Given the description of an element on the screen output the (x, y) to click on. 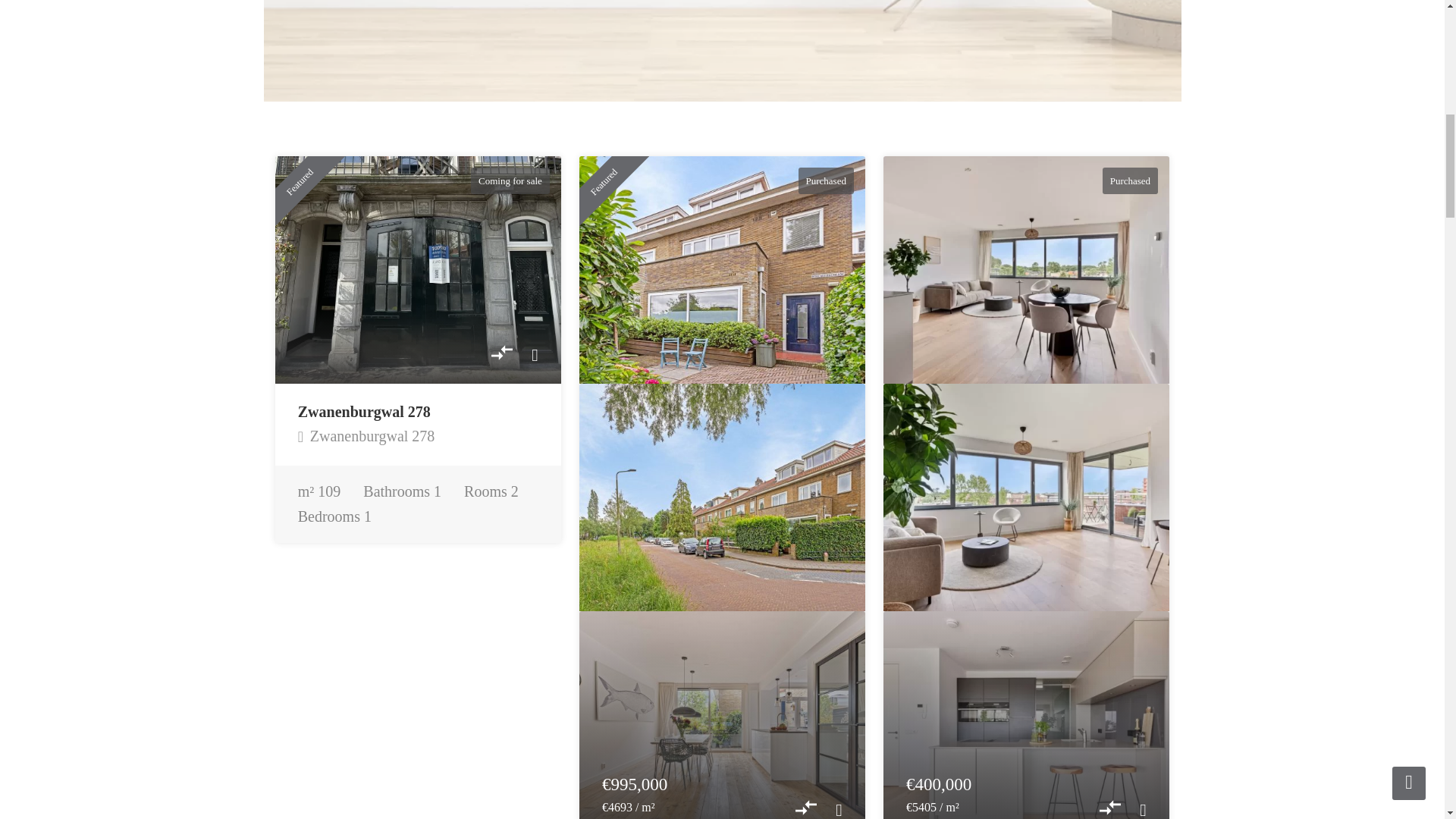
Zwanenburgwal 278 (417, 270)
Zwanenburgwal 278 (366, 435)
